Given the description of an element on the screen output the (x, y) to click on. 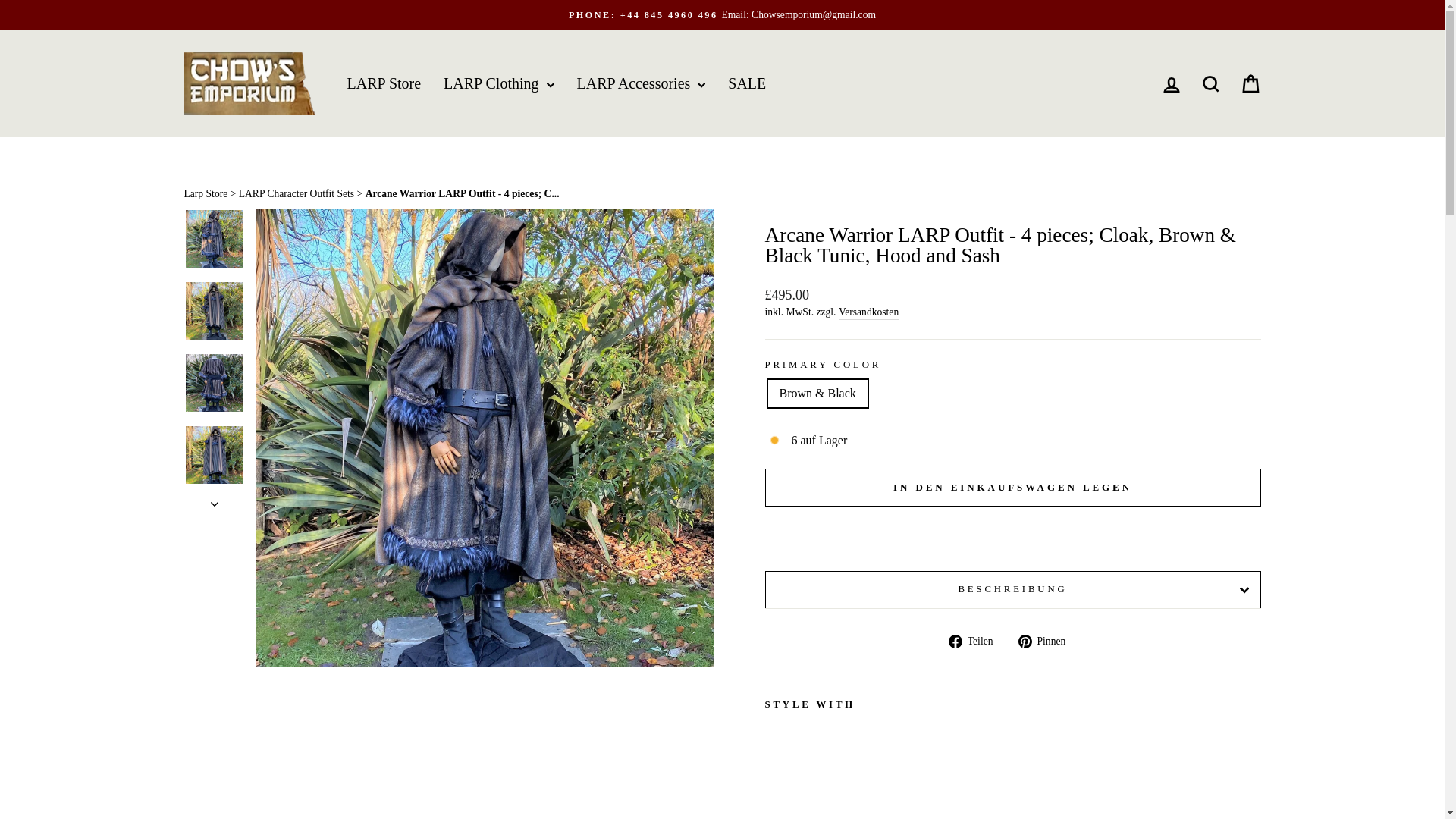
Auf Pinterest pinnen (1047, 639)
icon-chevron (214, 504)
LARP Store (383, 82)
Shop for Larp products online (205, 193)
Auf Facebook teilen (976, 639)
icon-search (1210, 84)
account (1170, 84)
